Given the description of an element on the screen output the (x, y) to click on. 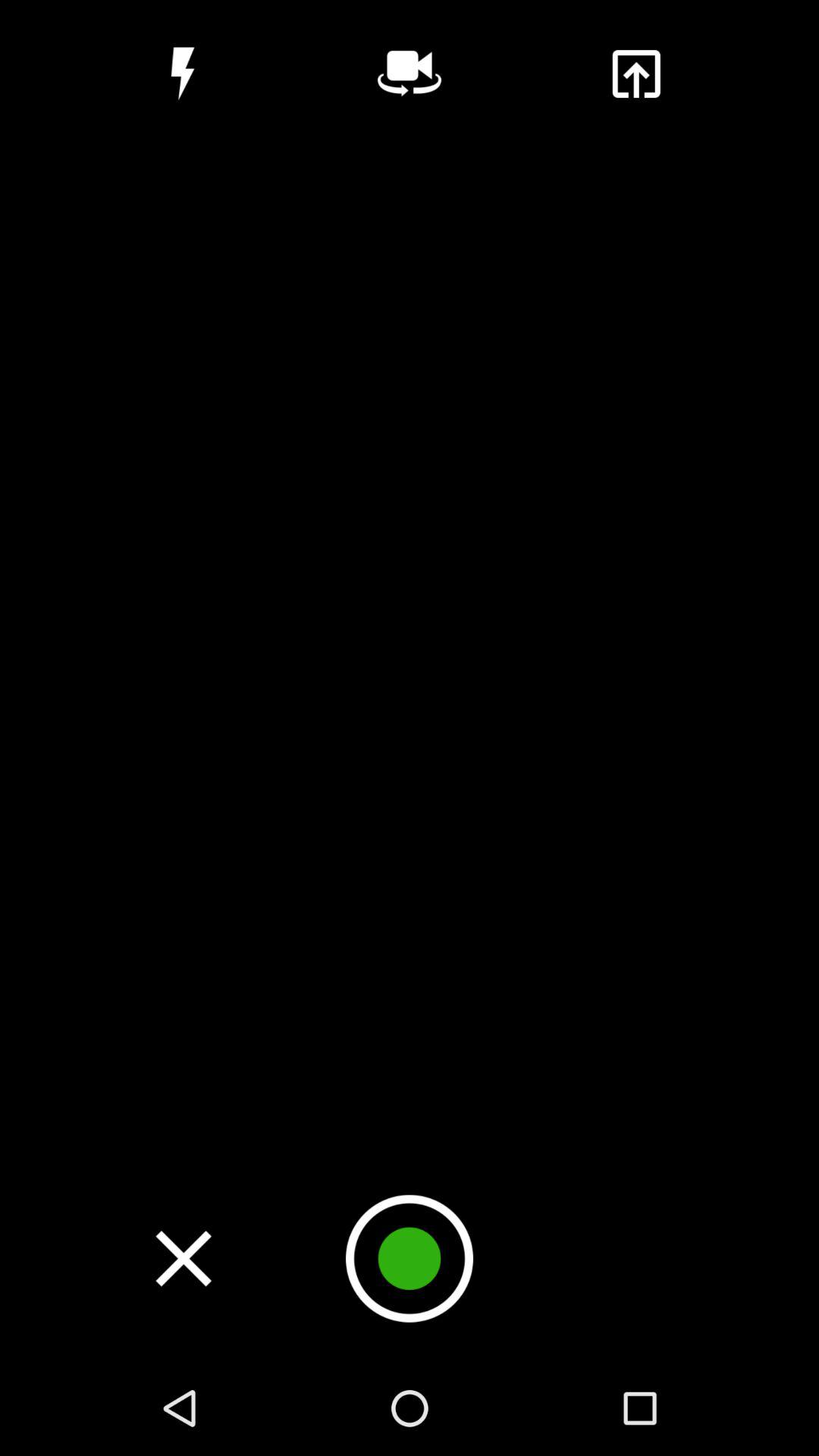
press the item at the top right corner (635, 73)
